Given the description of an element on the screen output the (x, y) to click on. 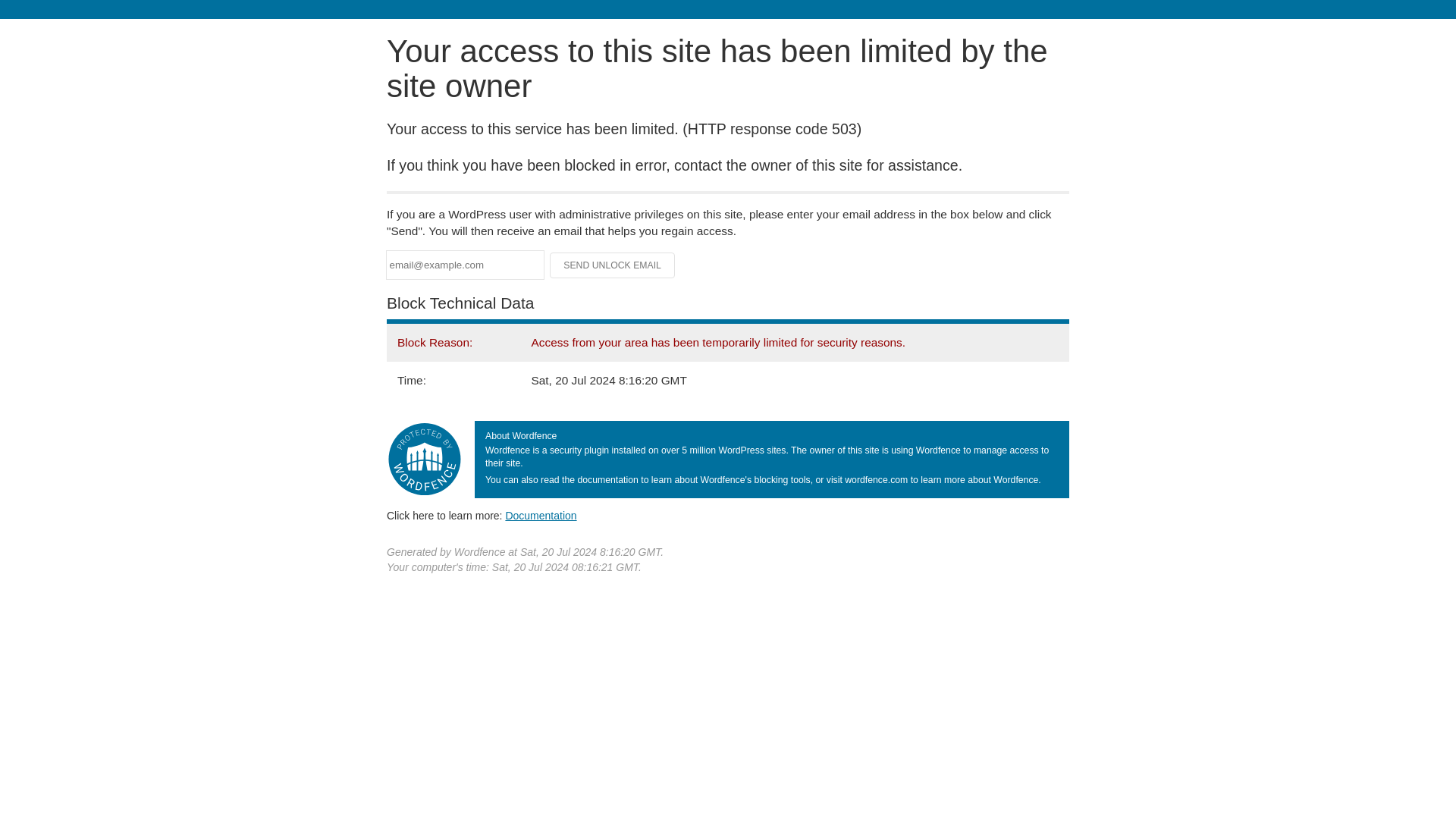
Send Unlock Email (612, 265)
Documentation (540, 515)
Send Unlock Email (612, 265)
